Given the description of an element on the screen output the (x, y) to click on. 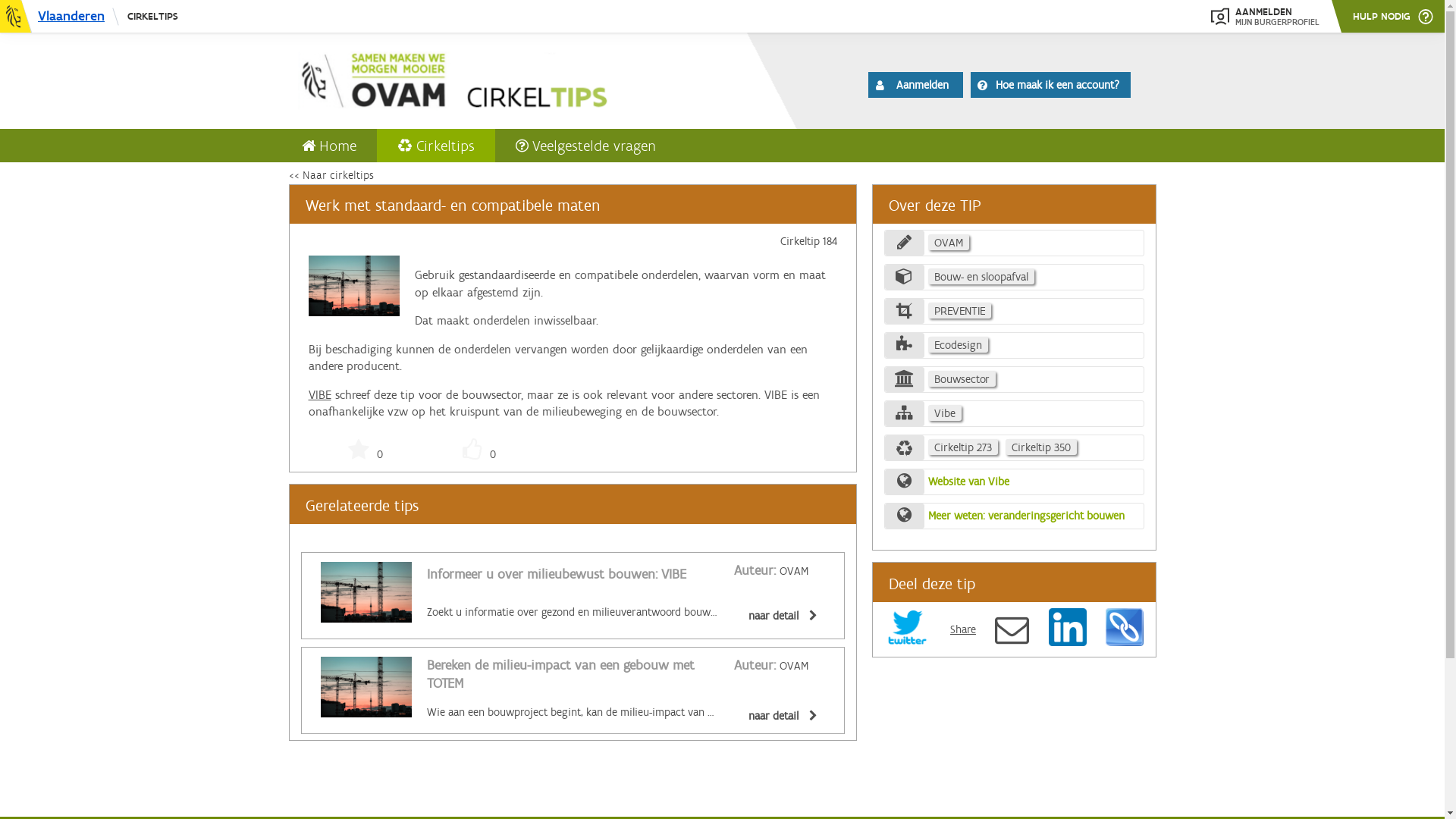
Goede tip Element type: hover (472, 449)
Meer weten: veranderingsgericht bouwen Element type: text (1026, 517)
AANMELDEN
MIJN BURGERPROFIEL Element type: text (1265, 16)
Bouwsector Element type: text (961, 378)
naar detail Element type: text (779, 715)
Auteur: OVAM Element type: text (771, 665)
Bereken de milieu-impact van een gebouw met TOTEM Element type: text (559, 674)
Ecodesign Element type: text (958, 344)
Gerelateerde cirkeltips Element type: hover (904, 446)
Vibe Element type: text (944, 412)
naar detail Element type: text (779, 615)
Afvalcategorie Element type: hover (904, 276)
<< Naar cirkeltips Element type: text (330, 175)
Cirkeltips Element type: text (435, 145)
Cirkeltip 273 Element type: text (962, 447)
Home Element type: hover (495, 77)
OVAM Element type: text (948, 242)
Favoriet Element type: hover (358, 449)
Auteur: OVAM Element type: text (771, 570)
Organisatie Element type: hover (904, 412)
Veelgestelde vragen Element type: text (584, 145)
CIRKELTIPS Element type: text (152, 16)
Web pagina Element type: hover (904, 515)
Share Element type: text (962, 629)
Thema Element type: hover (904, 344)
Kopieer de link van deze tip Element type: hover (1124, 627)
Home Element type: text (328, 145)
Bouw- en sloopafval Element type: text (981, 276)
VIBE Element type: text (318, 394)
HULP NODIG Element type: text (1392, 16)
Auteur Element type: hover (904, 242)
Vlaanderen Element type: text (59, 16)
PREVENTIE Element type: text (959, 310)
Hoe maak ik een account? Element type: text (1050, 84)
Aanmelden Element type: text (915, 84)
Verwerkingswijze Element type: hover (904, 310)
Cirkeltip 350 Element type: text (1040, 447)
Informeer u over milieubewust bouwen: VIBE Element type: text (555, 574)
Web pagina Element type: hover (904, 480)
Bedrijfssector Element type: hover (904, 378)
Website van Vibe Element type: text (968, 483)
